Given the description of an element on the screen output the (x, y) to click on. 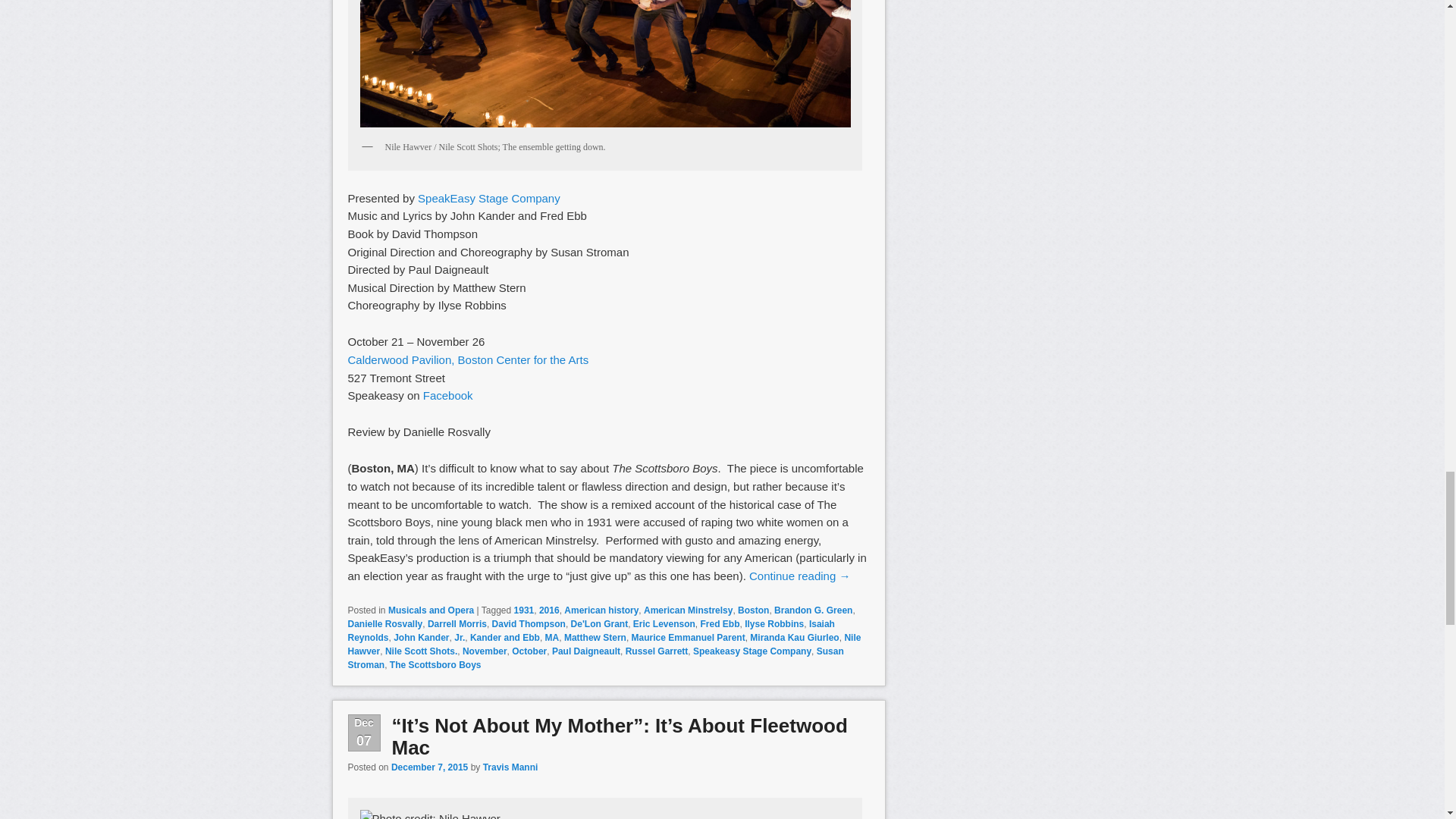
10:12 am (429, 767)
View all posts by Travis Manni (510, 767)
